Given the description of an element on the screen output the (x, y) to click on. 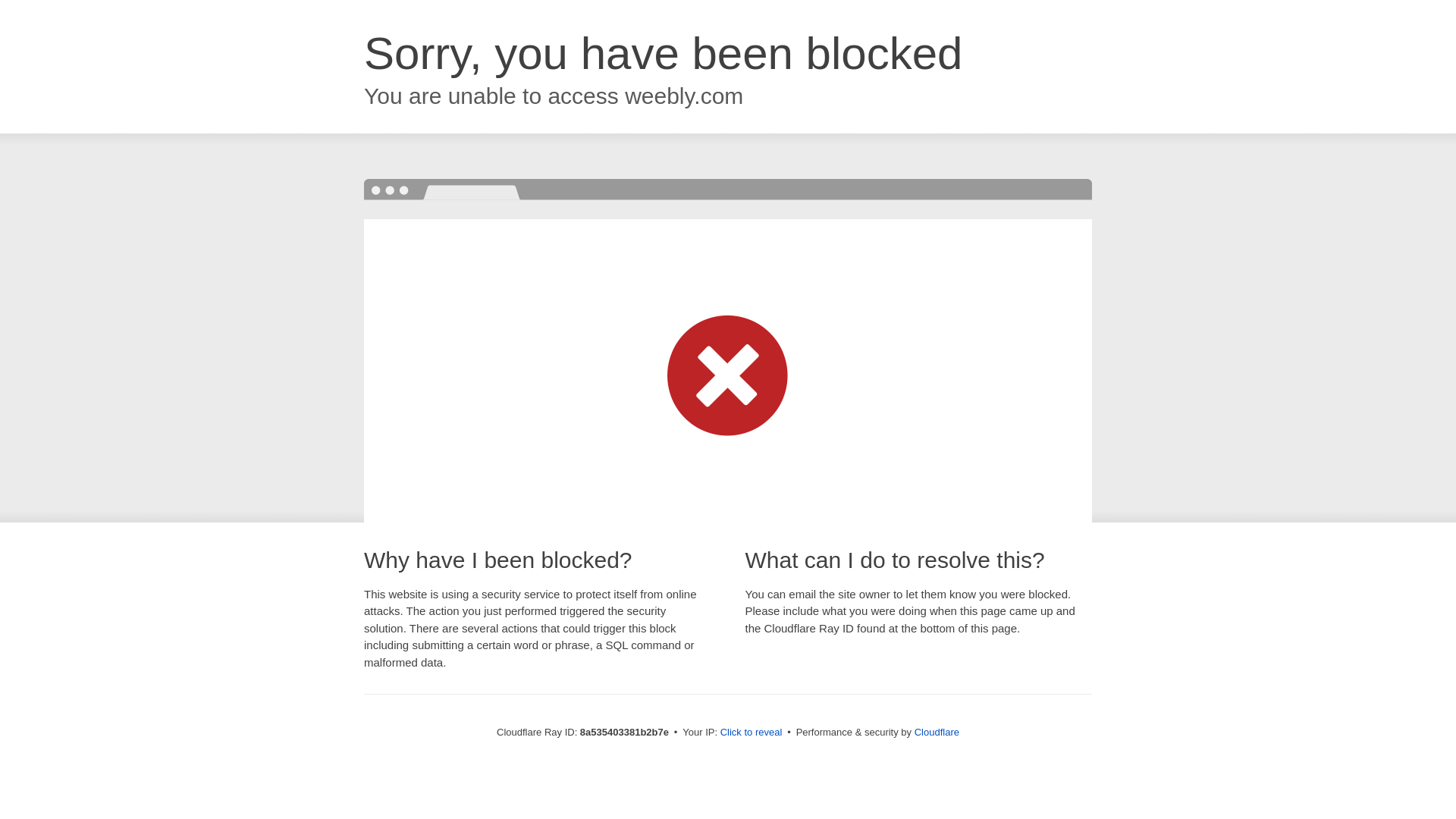
Cloudflare (936, 731)
Click to reveal (751, 732)
